Given the description of an element on the screen output the (x, y) to click on. 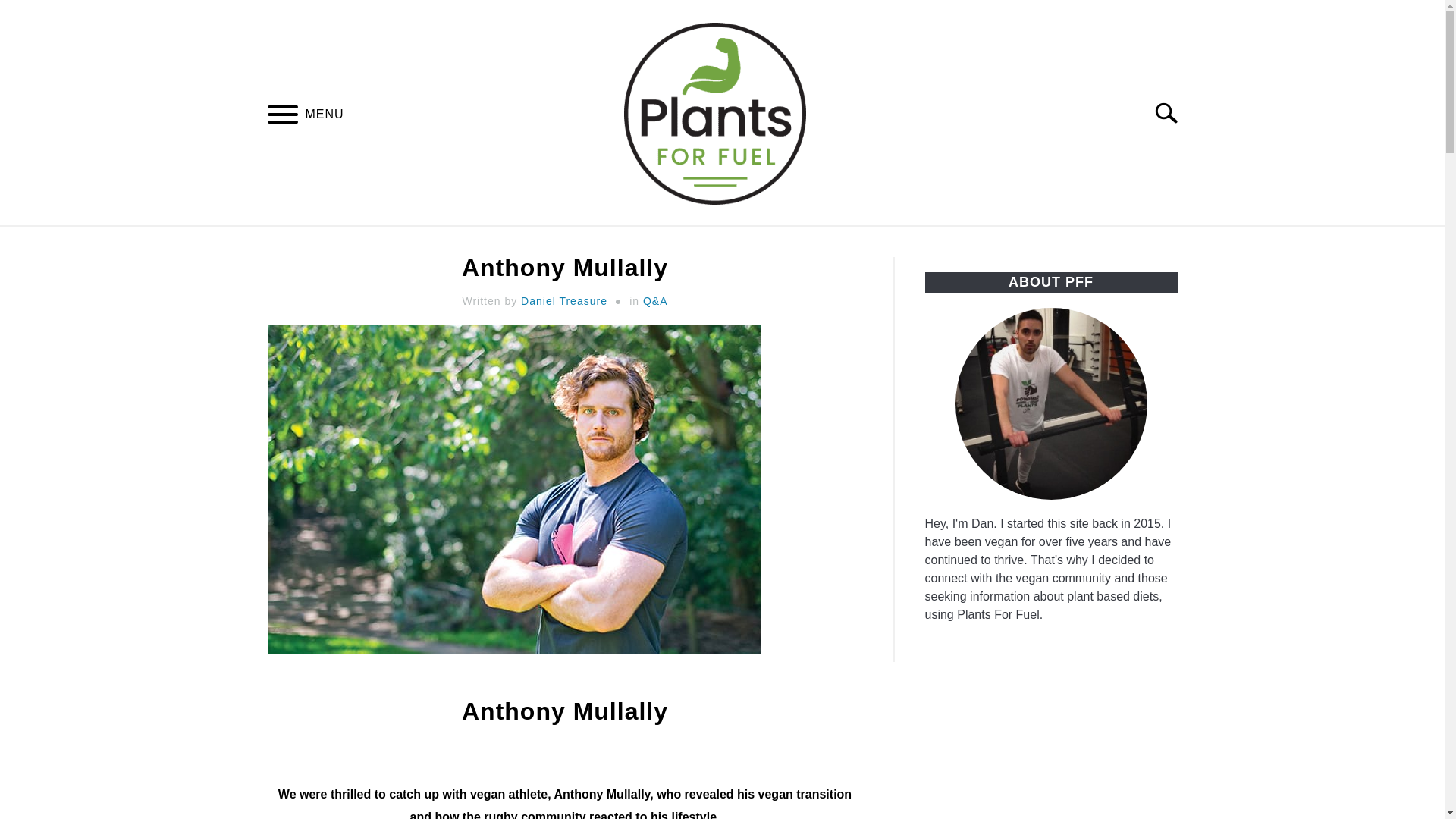
MENU (282, 116)
Search (1172, 112)
Daniel Treasure (564, 300)
